Given the description of an element on the screen output the (x, y) to click on. 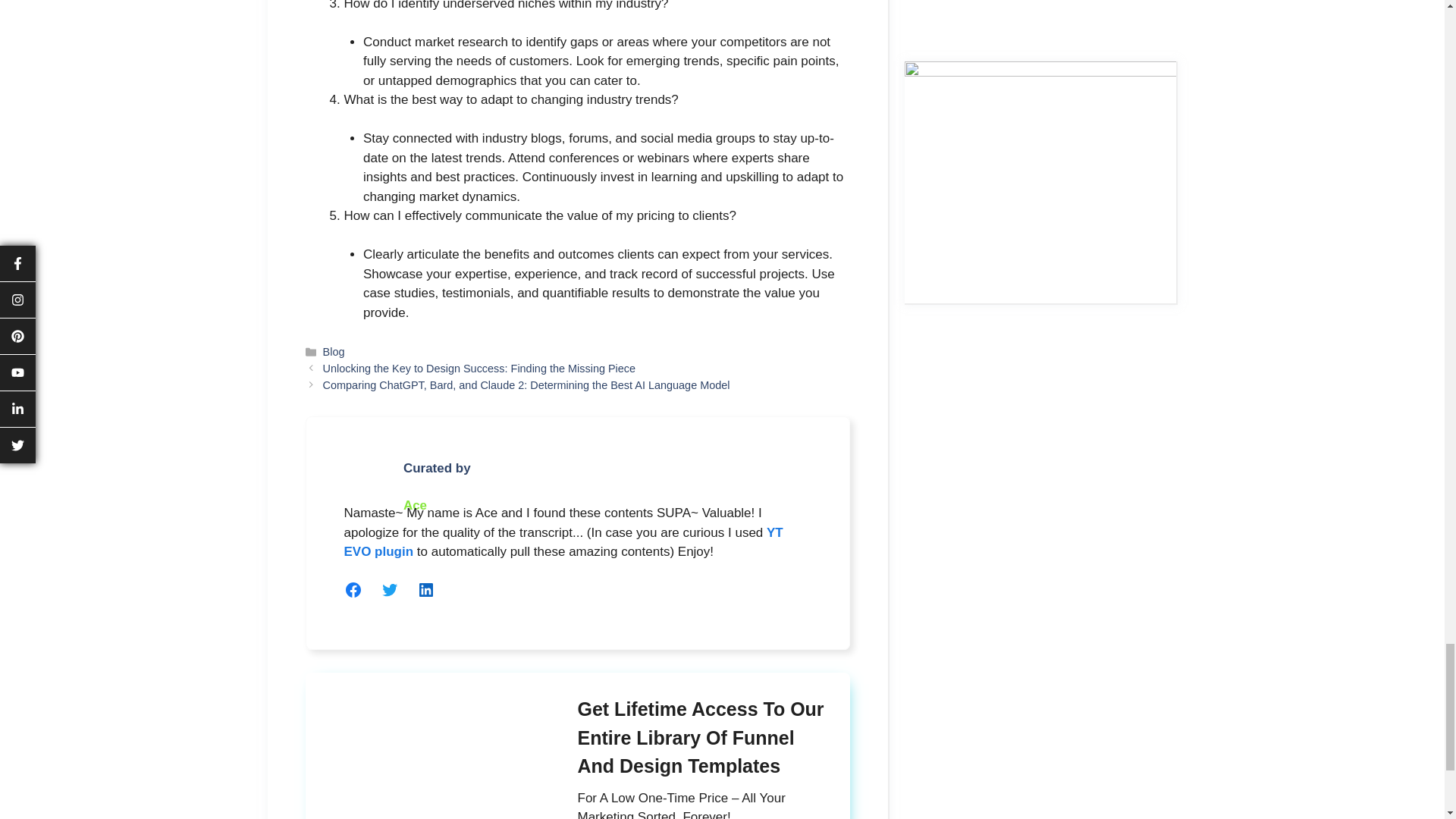
Twitter (389, 589)
Facebook (352, 589)
LinkedIn (425, 589)
Ace (414, 504)
YT EVO plugin (563, 542)
Blog (334, 351)
